Given the description of an element on the screen output the (x, y) to click on. 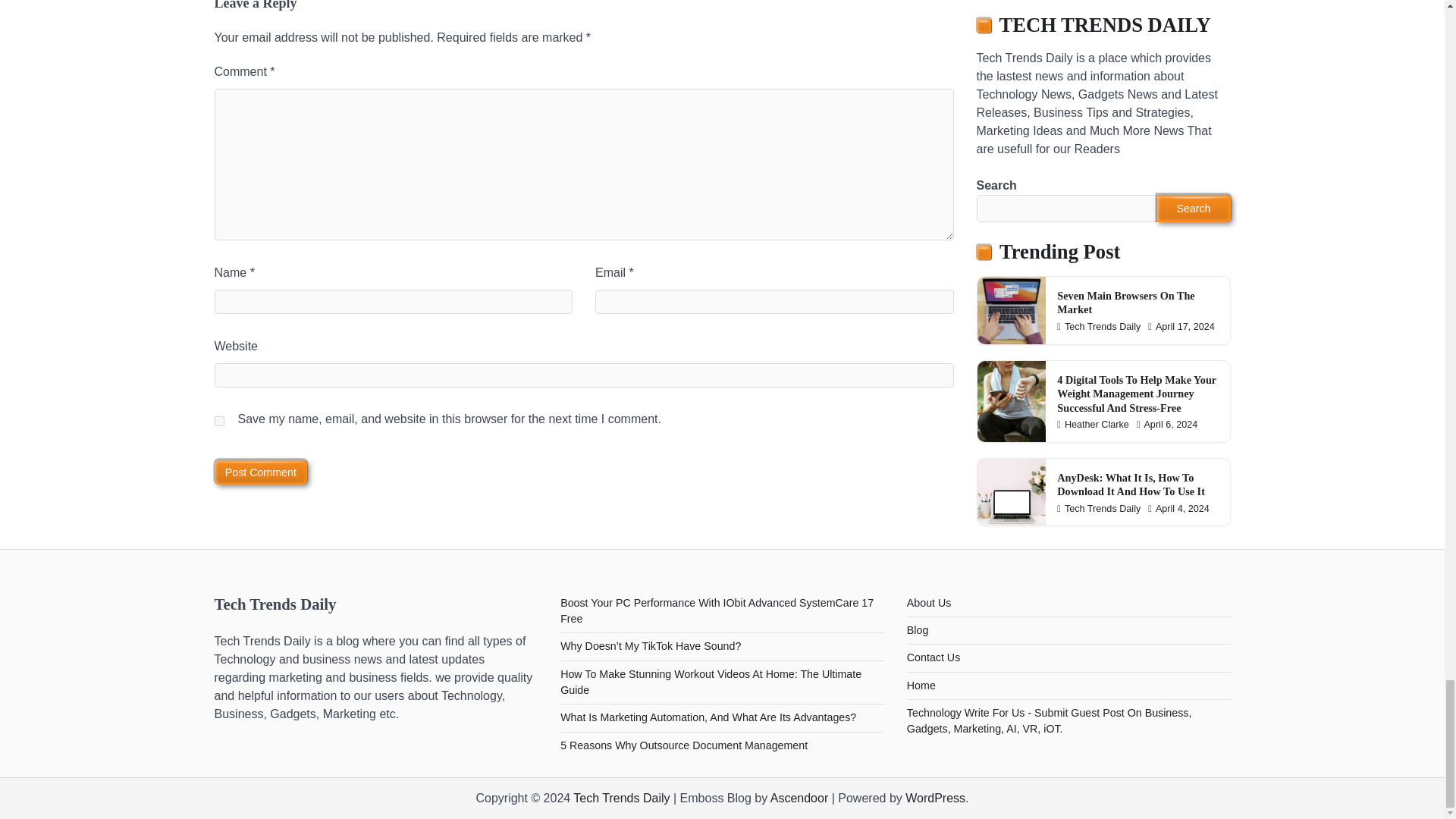
Post Comment (260, 472)
yes (219, 420)
